Given the description of an element on the screen output the (x, y) to click on. 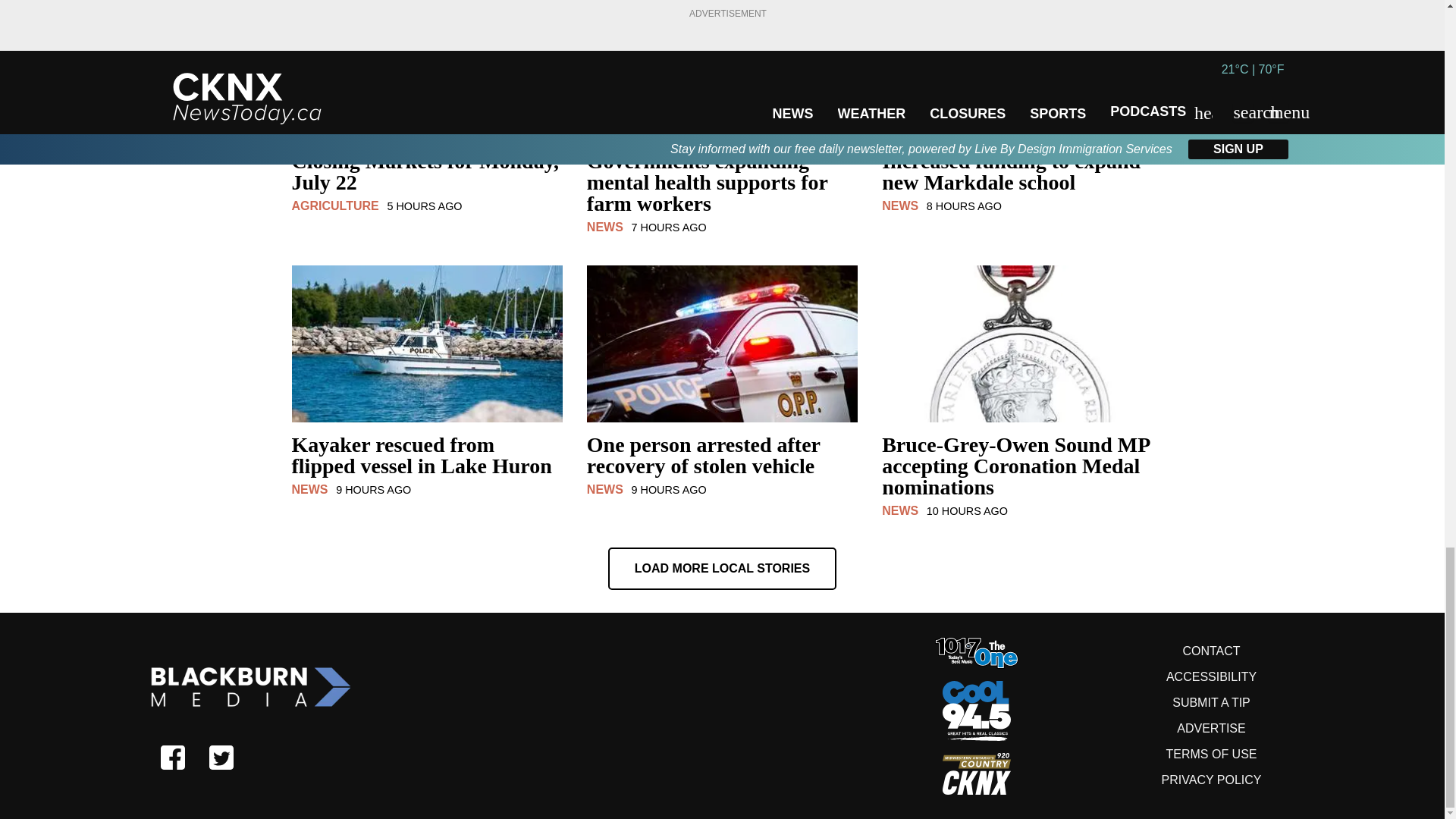
Closing Markets for Monday, July 22 (426, 181)
AGRICULTURE (334, 205)
